Given the description of an element on the screen output the (x, y) to click on. 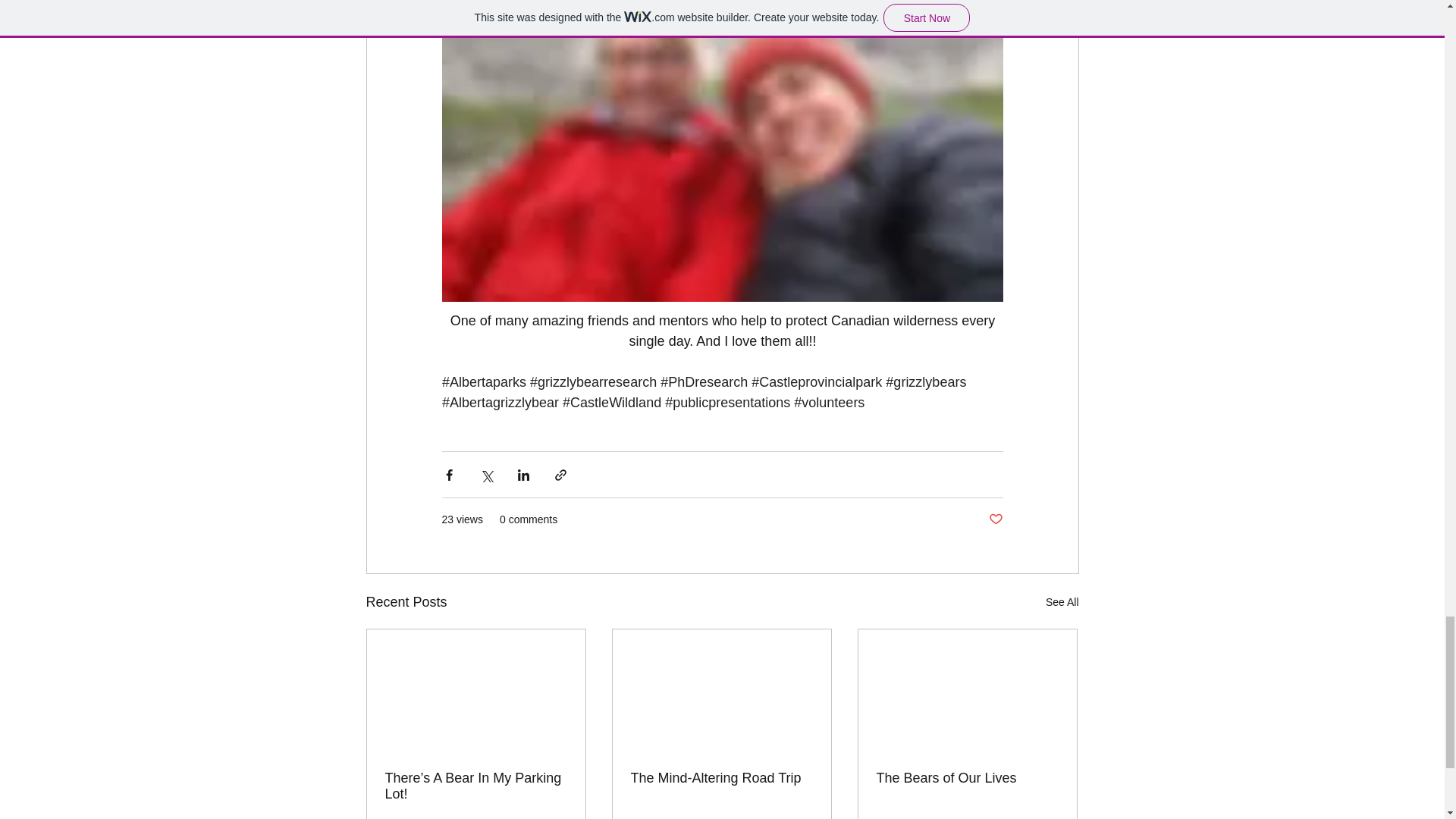
See All (1061, 602)
Post not marked as liked (995, 519)
The Mind-Altering Road Trip (721, 778)
